Given the description of an element on the screen output the (x, y) to click on. 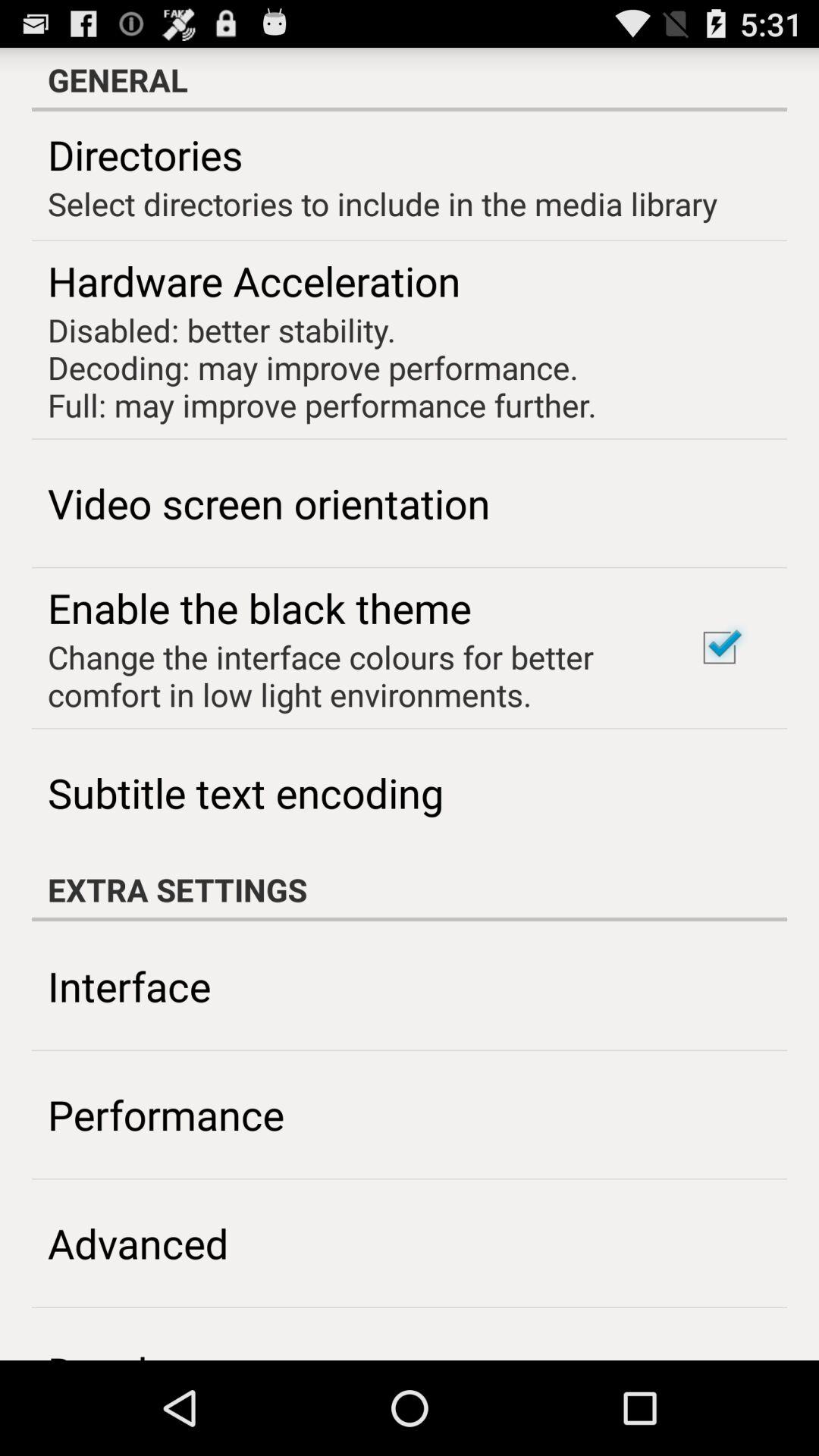
press the app above the extra settings item (719, 647)
